Given the description of an element on the screen output the (x, y) to click on. 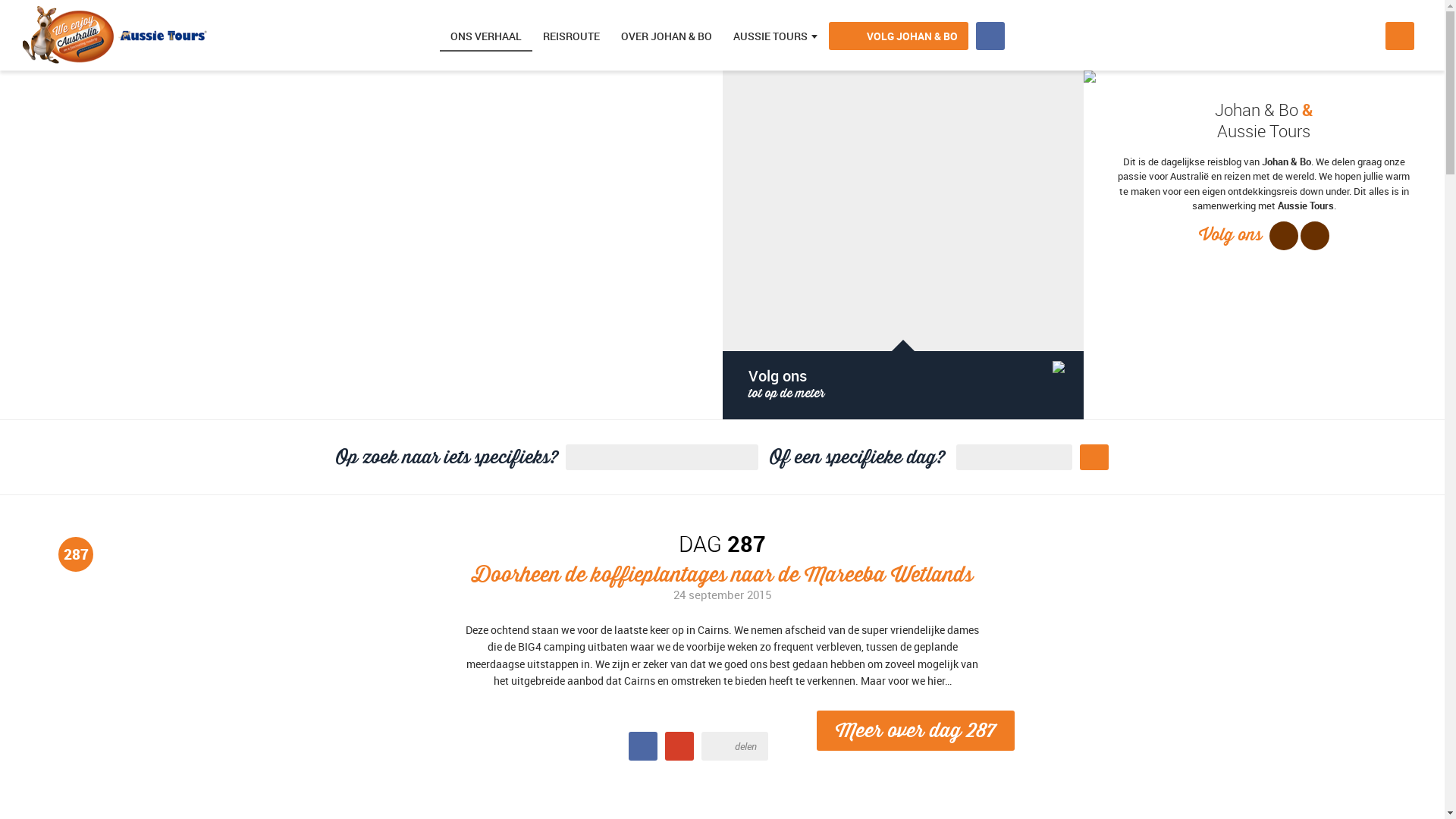
Johan & Bo Element type: text (1286, 161)
delen Element type: text (734, 745)
OVER JOHAN & BO Element type: text (666, 35)
ONS VERHAAL Element type: text (485, 35)
Meer over dag 287 Element type: text (915, 730)
Aussie Tours Element type: text (1305, 205)
AUSSIE TOURS Element type: text (770, 35)
Aussie Tours Element type: hover (114, 35)
VOLG JOHAN & BO Element type: text (898, 35)
Zoeken Element type: hover (1399, 35)
287 Element type: text (75, 553)
REISROUTE Element type: text (571, 35)
